Given the description of an element on the screen output the (x, y) to click on. 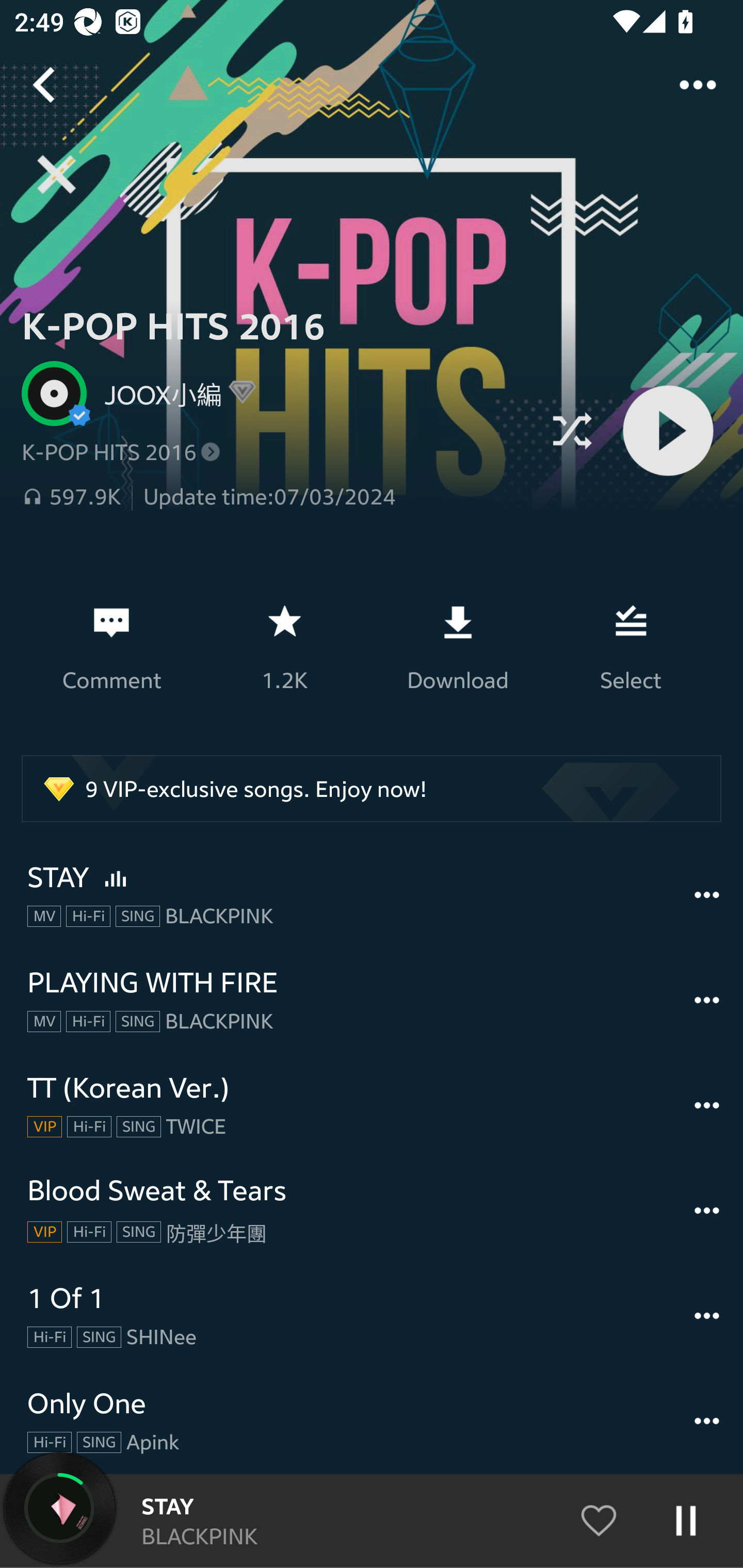
JOOX小編 (276, 393)
JOOX小編 (156, 393)
K-POP HITS 2016 597.9K Update time:07/03/2024 (276, 474)
Comment (111, 647)
1.2K (284, 647)
Download (457, 647)
Select (630, 647)
9 VIP-exclusive songs. Enjoy now! (371, 788)
STAY MV Hi-Fi SING BLACKPINK (371, 895)
PLAYING WITH FIRE MV Hi-Fi SING BLACKPINK (371, 1000)
TT (Korean Ver.) VIP Hi-Fi SING TWICE (371, 1105)
Blood Sweat & Tears VIP Hi-Fi SING 防彈少年團 (371, 1210)
1 Of 1 Hi-Fi SING SHINee (371, 1315)
Only One Hi-Fi SING Apink (371, 1420)
Lucky One (Korean Ver.) Hi-Fi EXO (371, 1520)
